Given the description of an element on the screen output the (x, y) to click on. 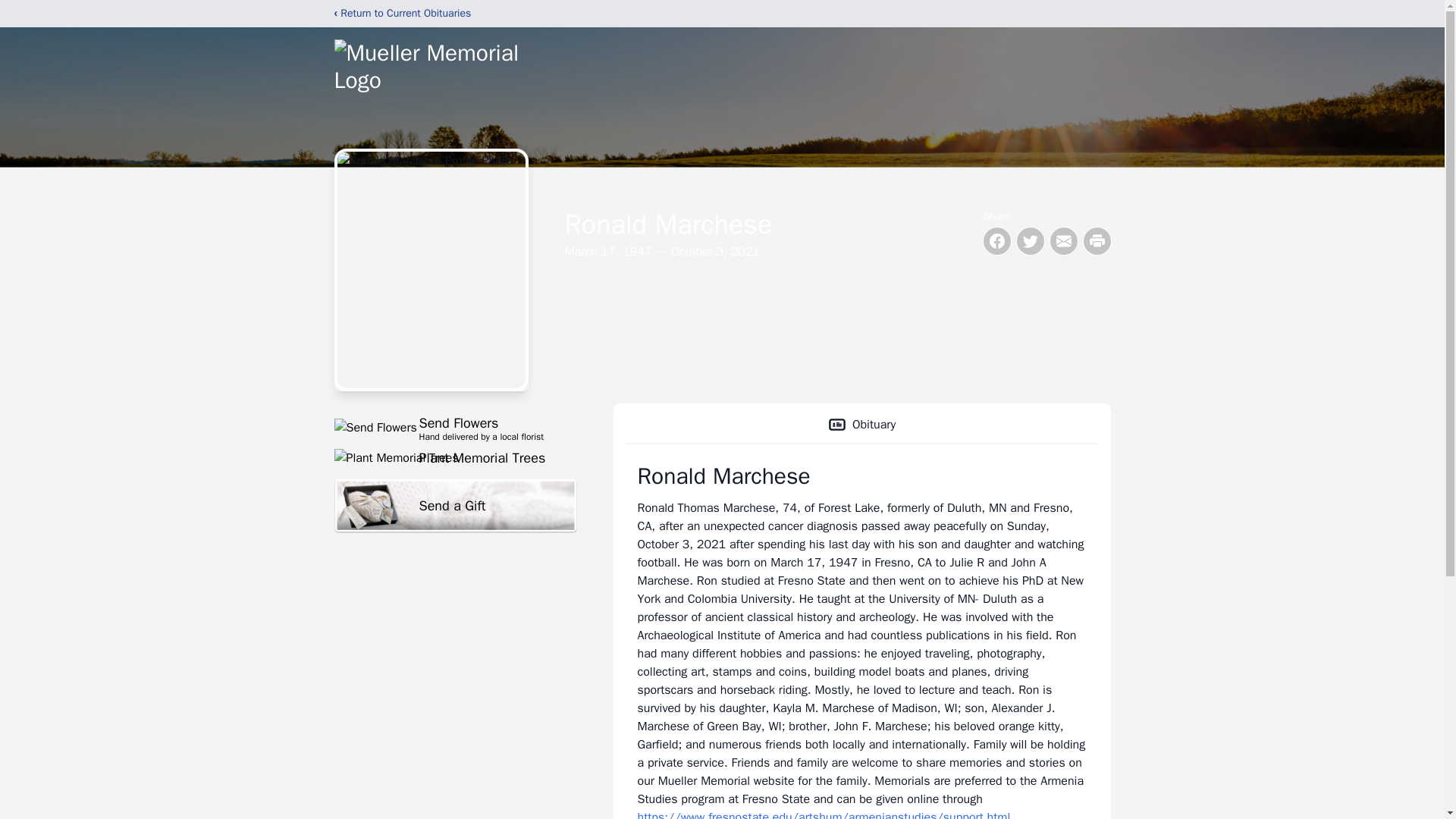
Send a Gift (454, 506)
Obituary (454, 427)
Plant Memorial Trees (860, 425)
